Given the description of an element on the screen output the (x, y) to click on. 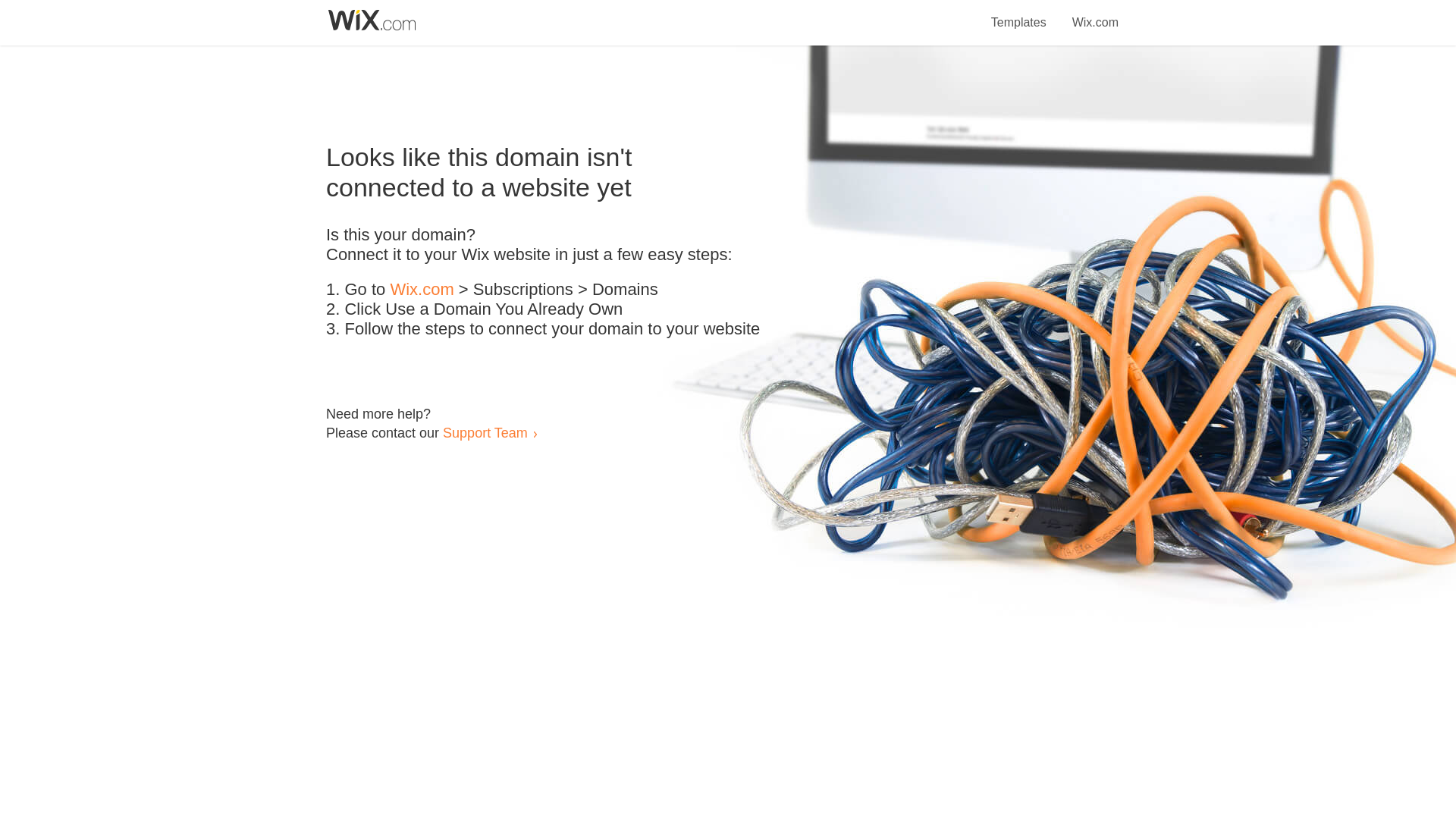
Wix.com (1095, 14)
Wix.com (421, 289)
Templates (1018, 14)
Support Team (484, 432)
